Given the description of an element on the screen output the (x, y) to click on. 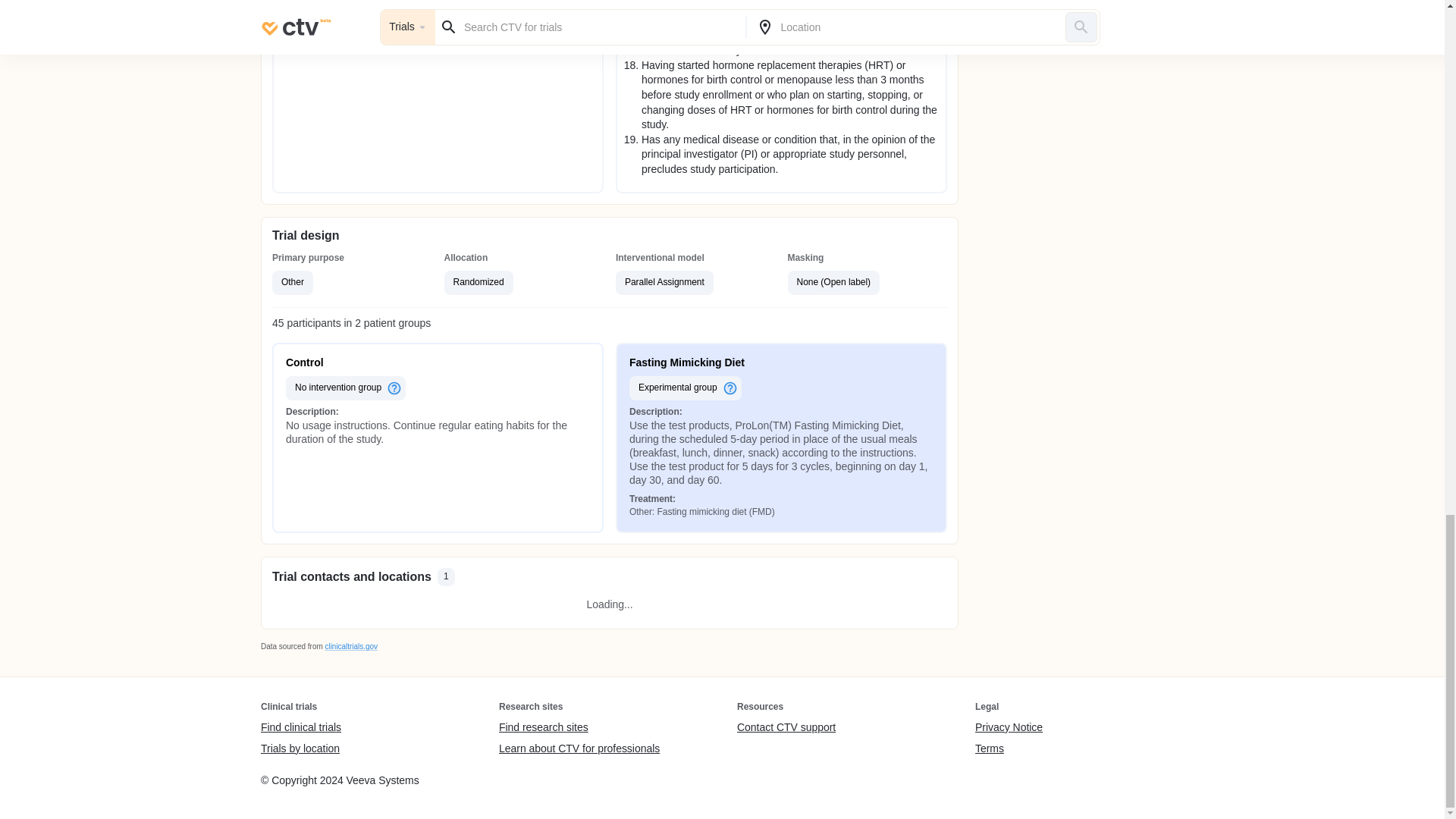
Find clinical trials (300, 727)
Terms (1008, 748)
Privacy Notice (1008, 727)
Find research sites (579, 727)
Trials by location (300, 748)
Contact CTV support (785, 727)
Learn about CTV for professionals (579, 748)
clinicaltrials.gov (350, 646)
